Given the description of an element on the screen output the (x, y) to click on. 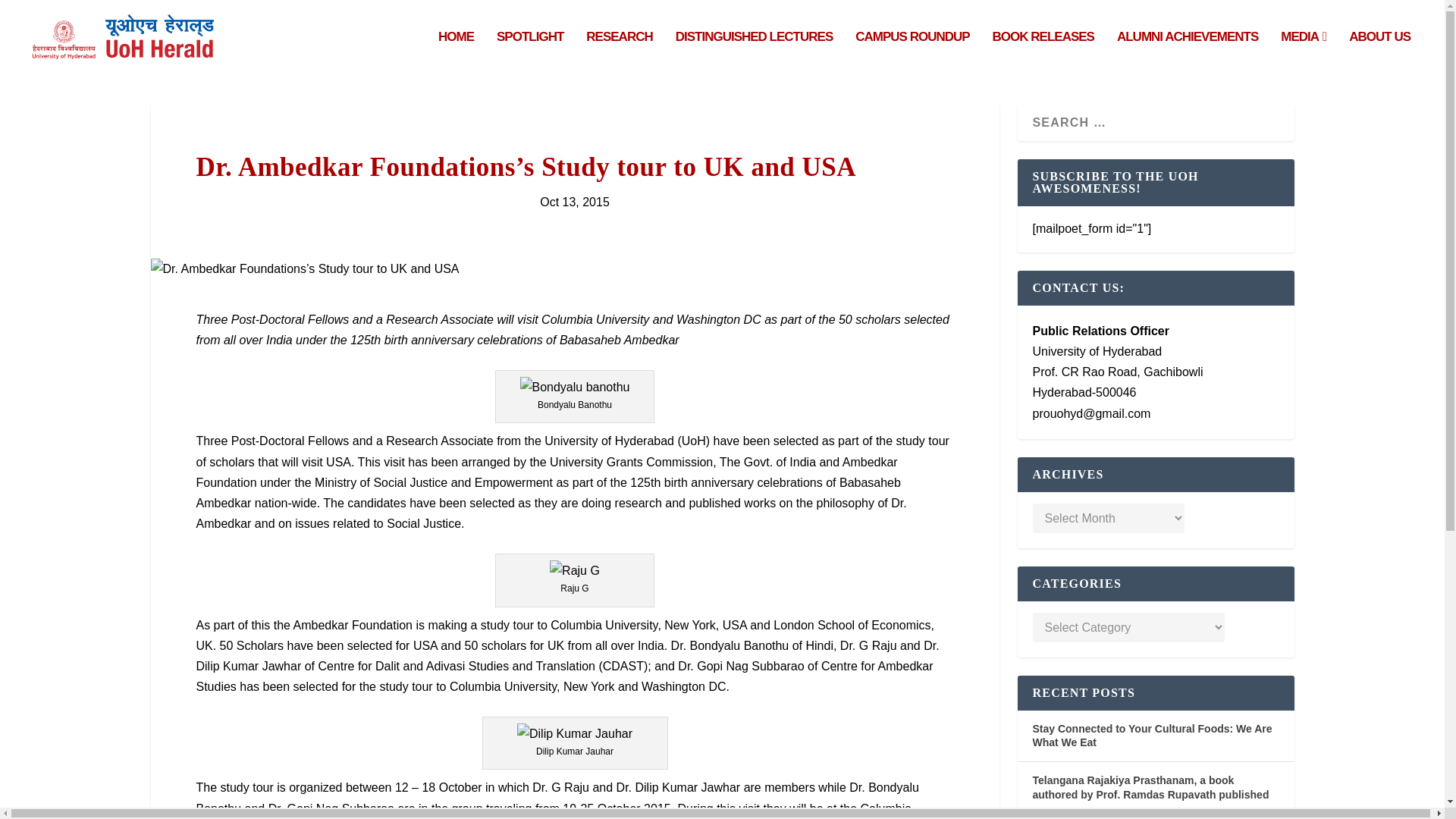
SPOTLIGHT (529, 52)
ALUMNI ACHIEVEMENTS (1186, 52)
Stay Connected to Your Cultural Foods: We Are What We Eat (1152, 735)
ABOUT US (1379, 52)
DISTINGUISHED LECTURES (753, 52)
BOOK RELEASES (1043, 52)
CAMPUS ROUNDUP (912, 52)
RESEARCH (619, 52)
MEDIA (1303, 52)
